Given the description of an element on the screen output the (x, y) to click on. 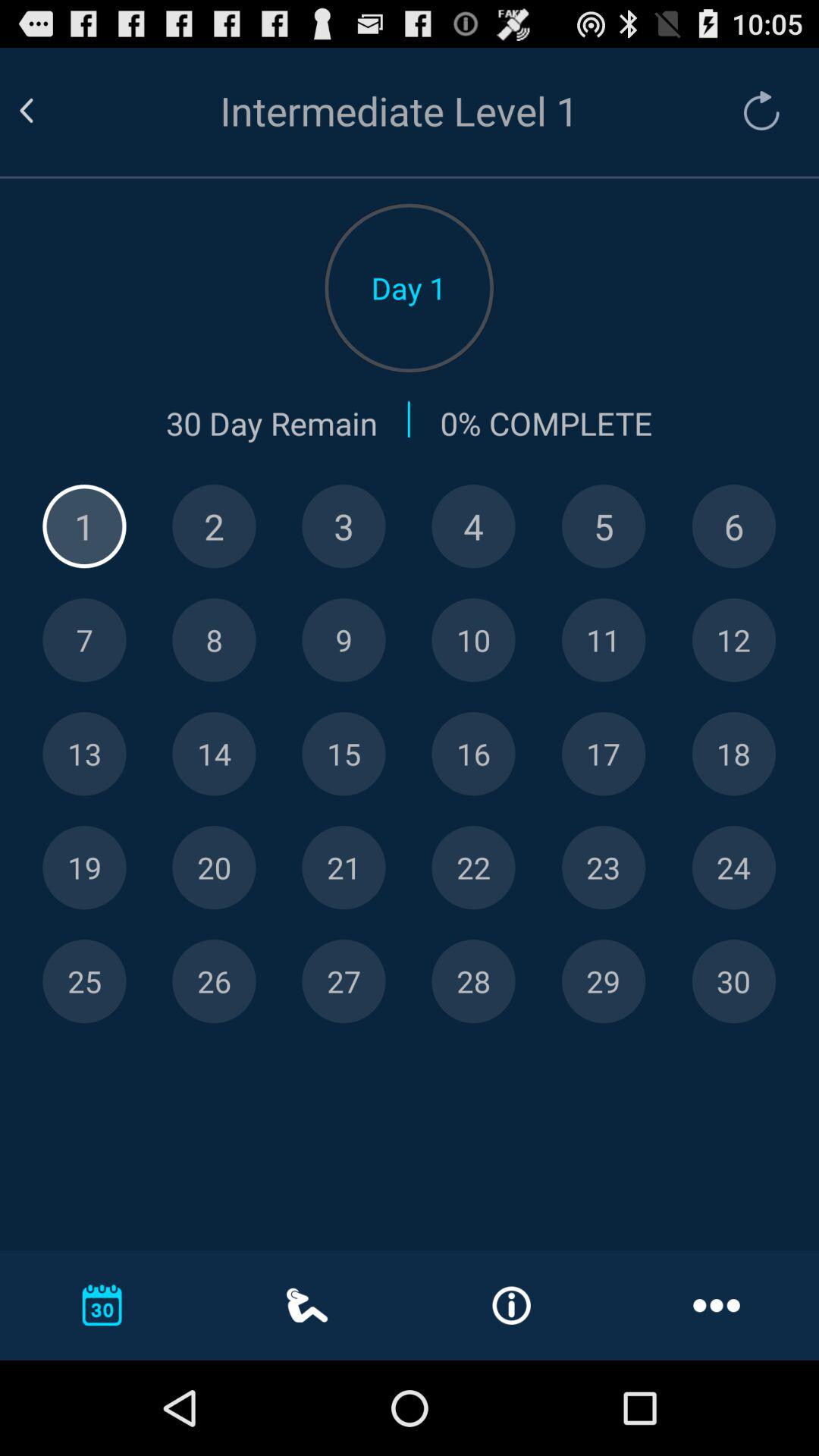
date (733, 981)
